Given the description of an element on the screen output the (x, y) to click on. 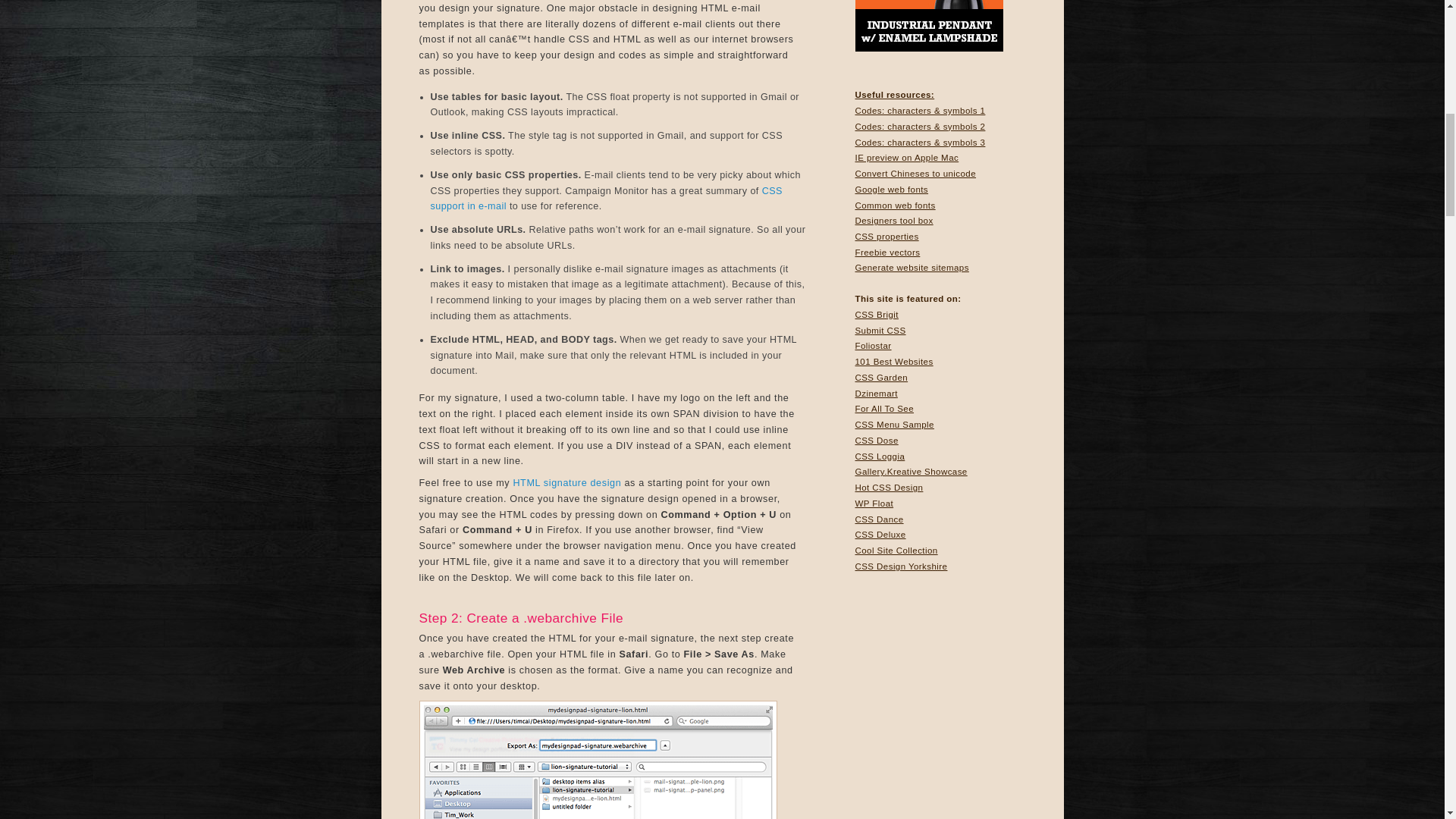
CSS support in e-mail (606, 198)
CSS support in e-mails (606, 198)
HTML signature design (566, 482)
saving-signature-in-safari (597, 760)
